Given the description of an element on the screen output the (x, y) to click on. 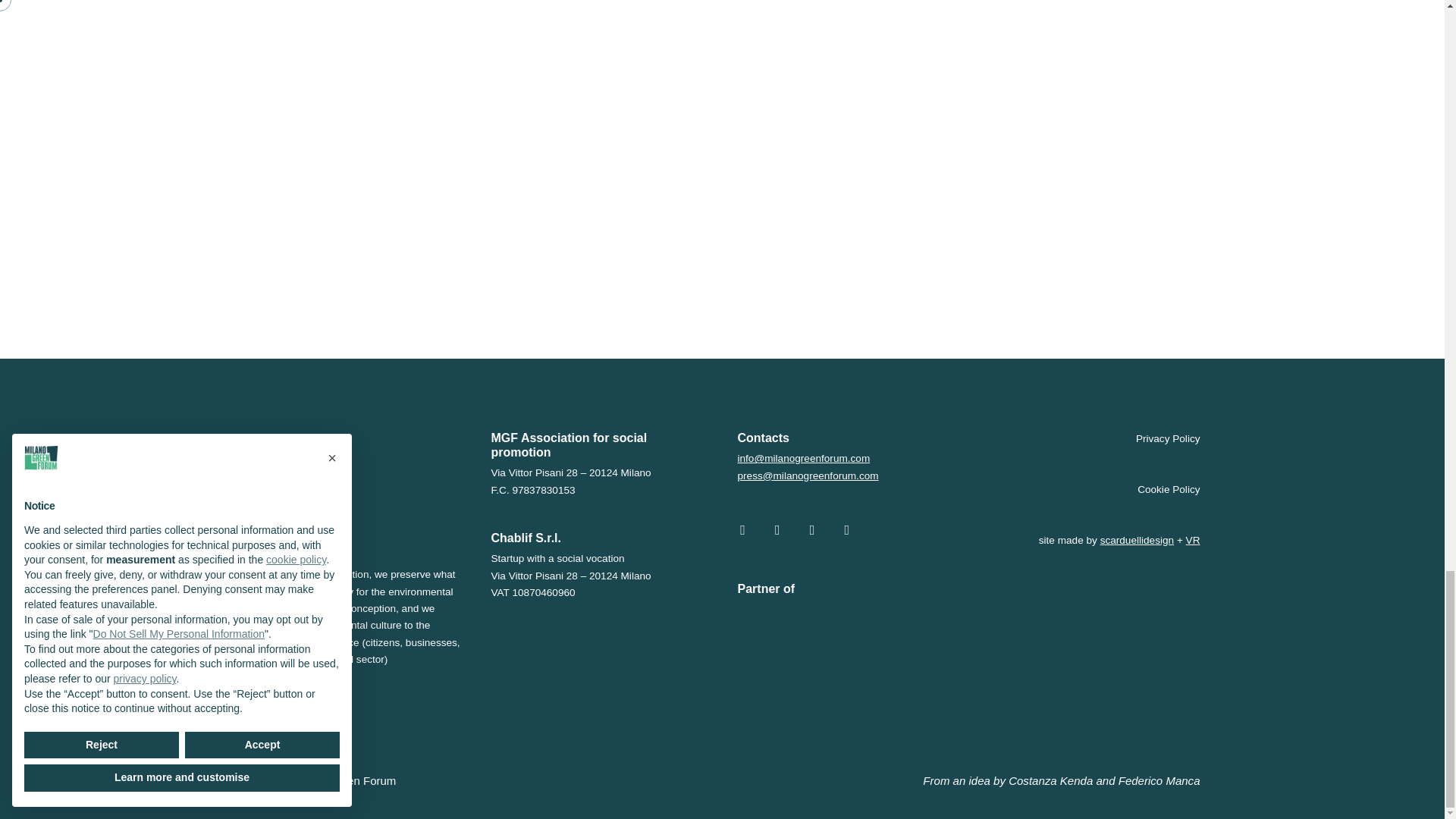
Instagram (742, 528)
Cookie Policy  (1155, 490)
facebook (777, 528)
Facebook (777, 528)
Privacy Policy  (1155, 439)
linkedin (812, 528)
instagram (742, 528)
Default Label (847, 528)
twitter (847, 528)
Twitter (812, 528)
